Given the description of an element on the screen output the (x, y) to click on. 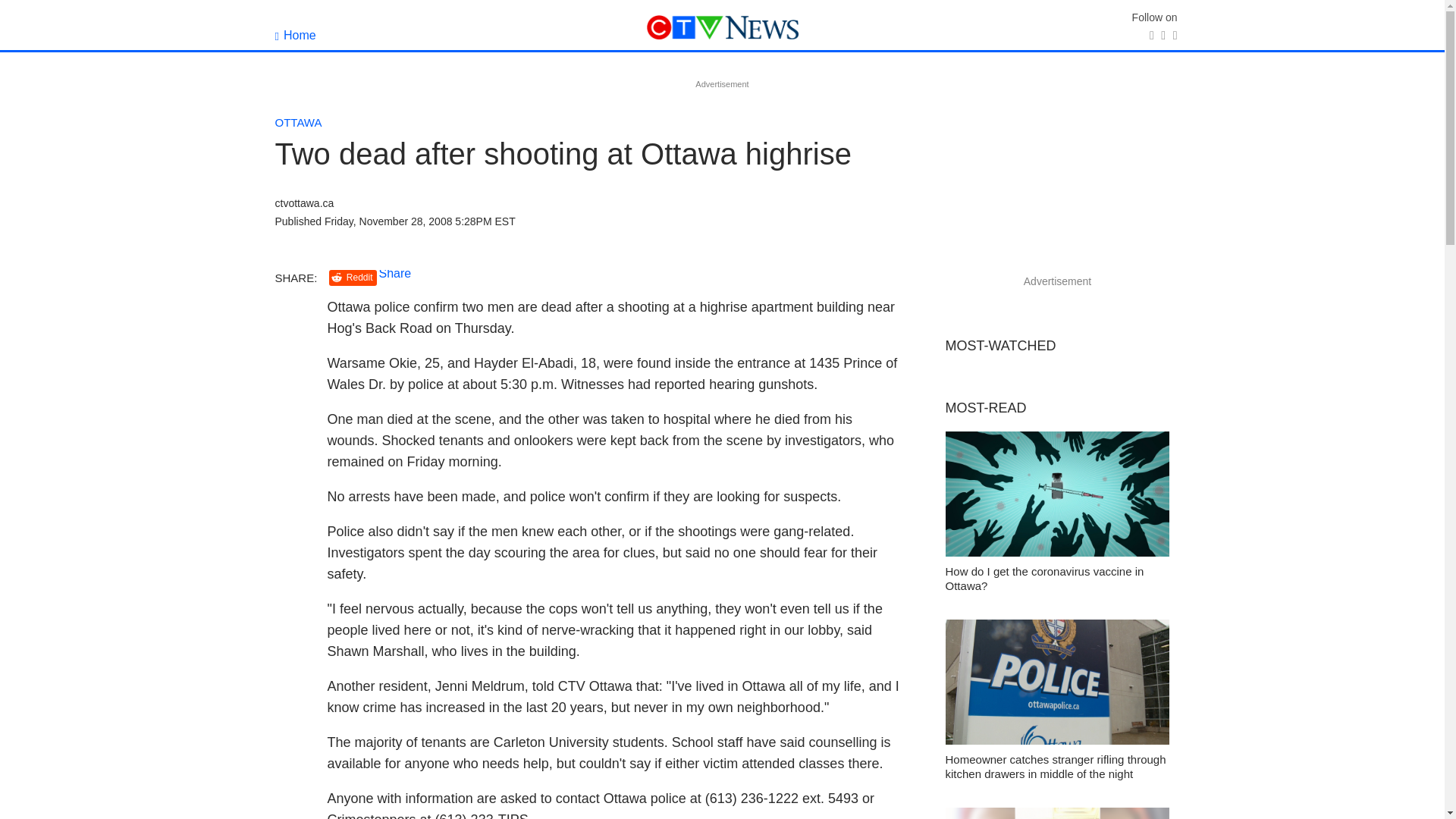
Share (395, 273)
Reddit (353, 277)
OTTAWA (298, 122)
Home (295, 34)
